Given the description of an element on the screen output the (x, y) to click on. 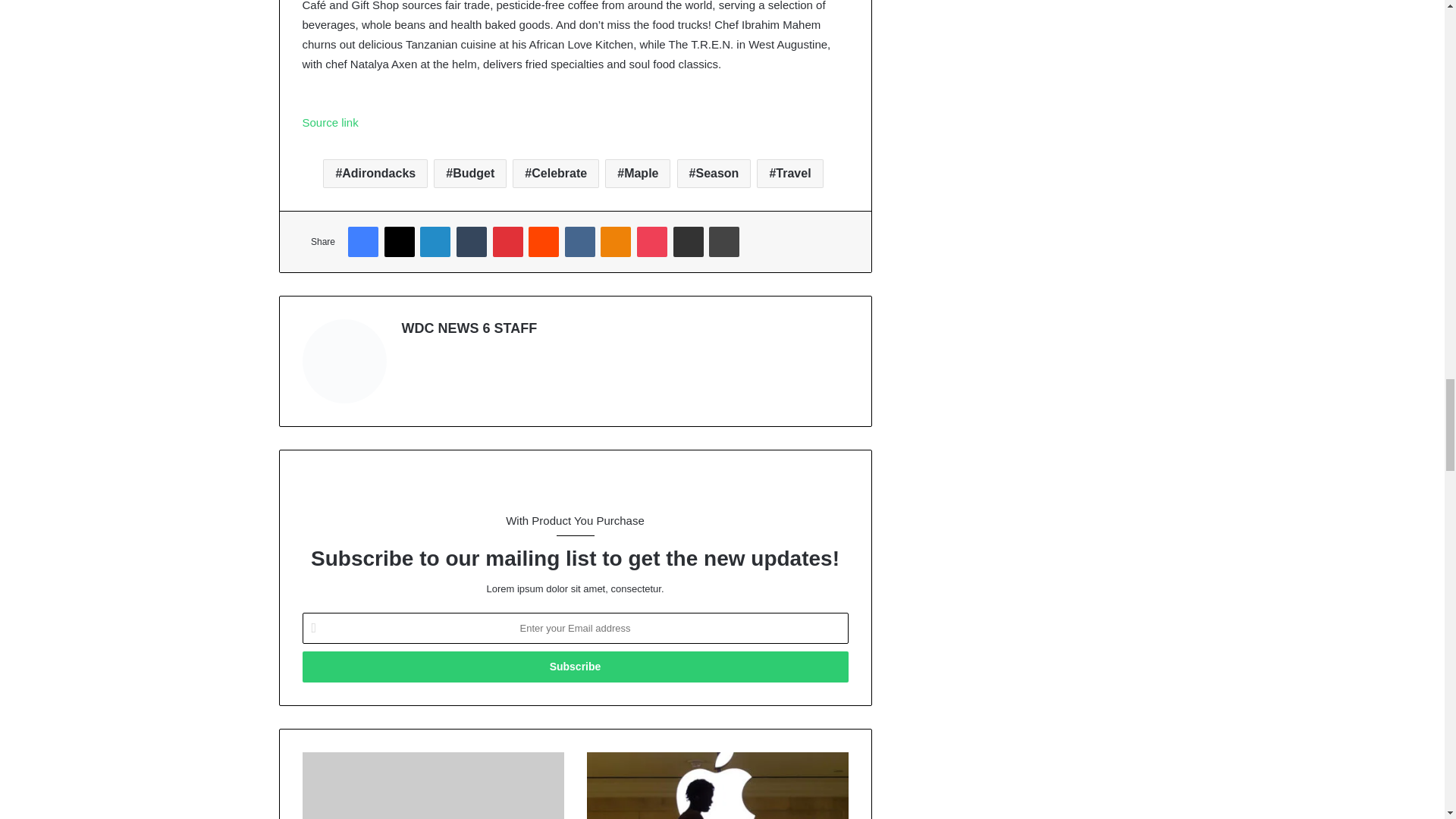
Subscribe (574, 666)
